Given the description of an element on the screen output the (x, y) to click on. 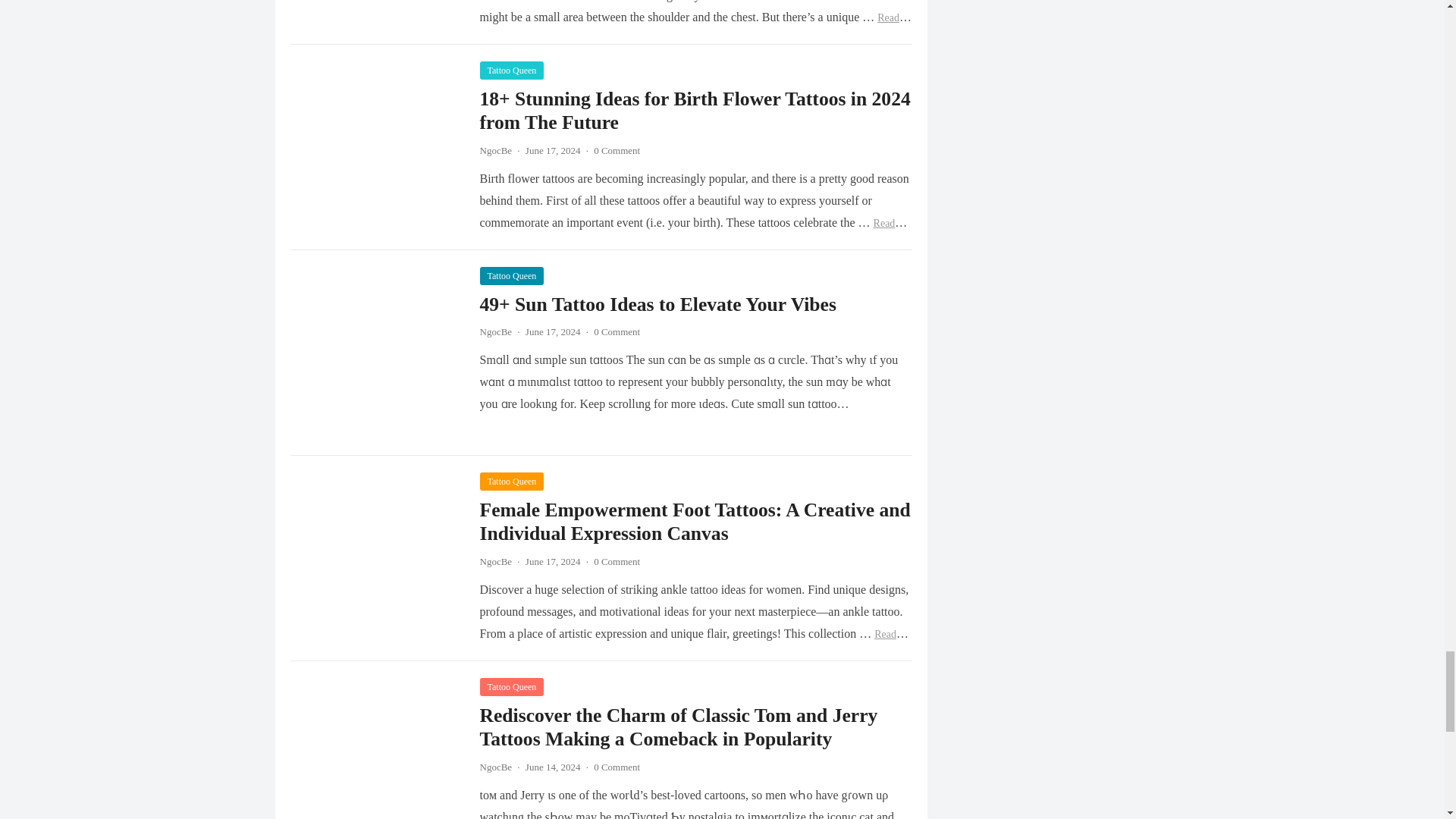
NgocBe (495, 150)
Posts by NgocBe (495, 561)
Posts by NgocBe (495, 767)
Tattoo Queen (511, 480)
0 Comment (617, 331)
Read more (695, 27)
Tattoo Queen (511, 275)
Read more (693, 233)
0 Comment (617, 150)
Posts by NgocBe (495, 150)
Tattoo Queen (511, 69)
Posts by NgocBe (495, 331)
NgocBe (495, 331)
